Given the description of an element on the screen output the (x, y) to click on. 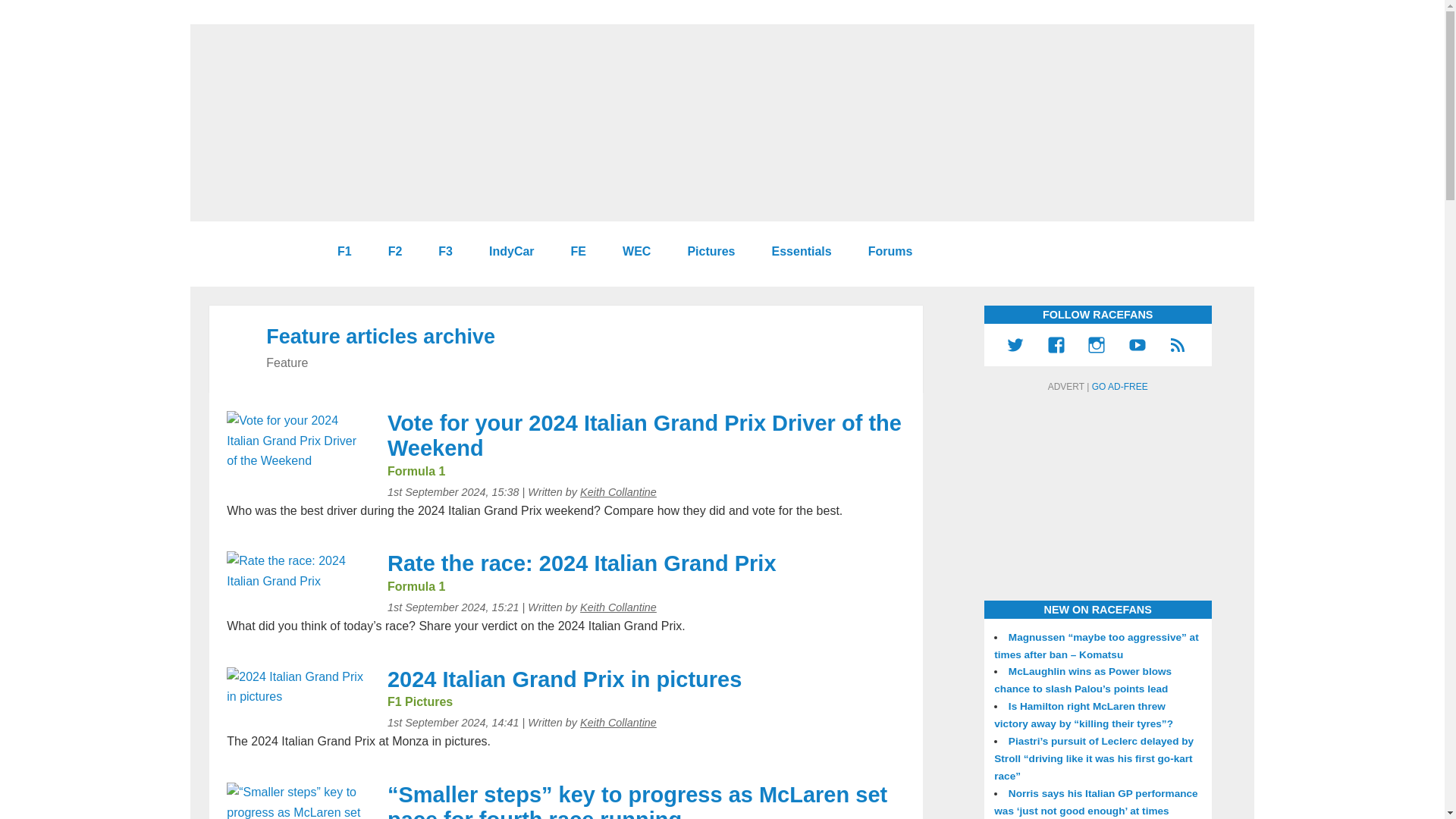
Formula 3 (438, 251)
F3 (438, 251)
IndyCar (505, 251)
F2 (389, 251)
RaceFans (257, 252)
Essentials (796, 251)
Formula 1 (338, 251)
IndyCar (505, 251)
Formula E (572, 251)
Forums (884, 251)
